Given the description of an element on the screen output the (x, y) to click on. 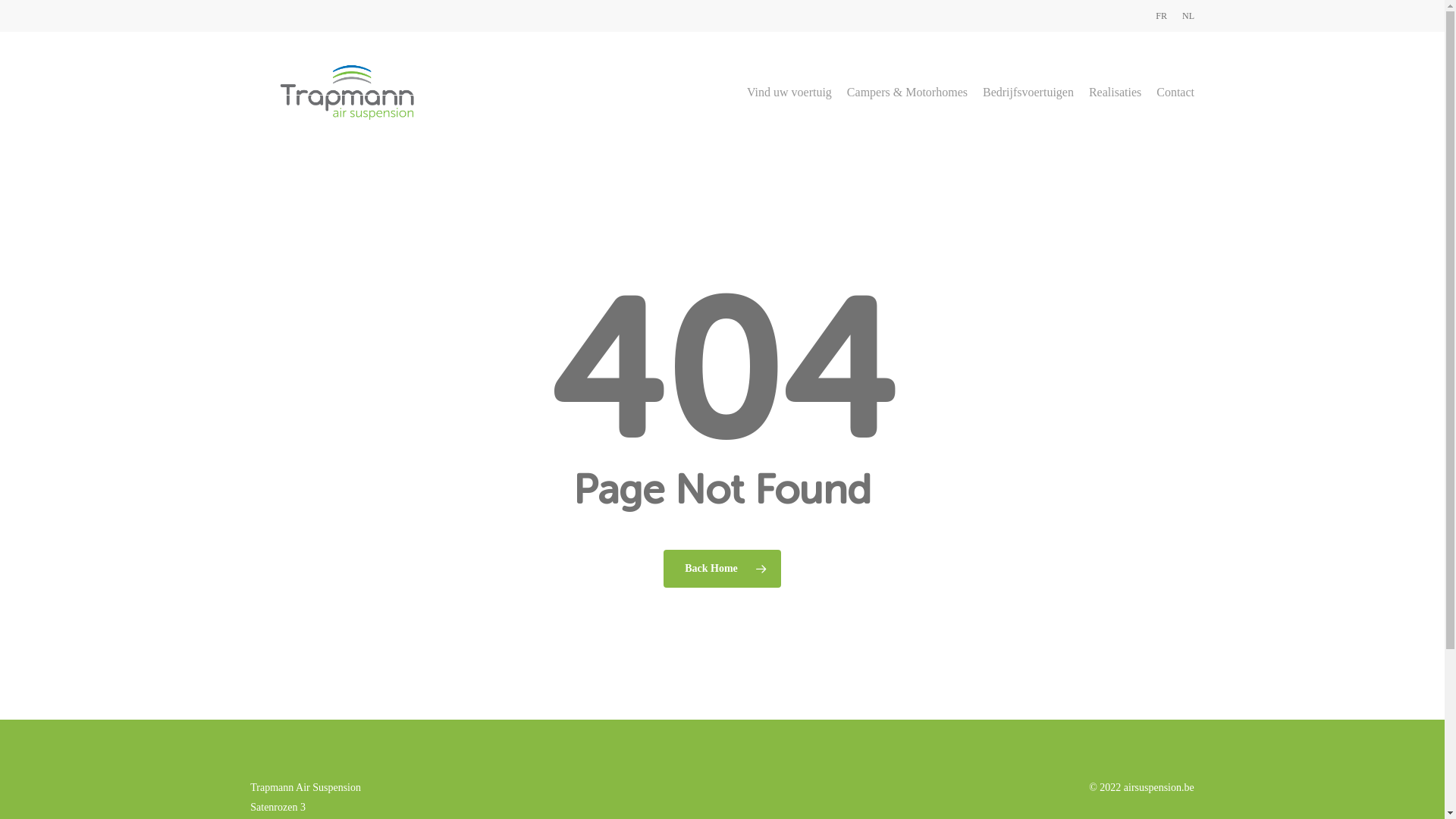
Realisaties Element type: text (1114, 92)
NL Element type: text (1188, 15)
Trapmann Air Suspension Element type: text (305, 787)
FR Element type: text (1161, 15)
Bedrijfsvoertuigen Element type: text (1027, 92)
Back Home Element type: text (722, 567)
Contact Element type: text (1175, 92)
Campers & Motorhomes Element type: text (907, 92)
Vind uw voertuig Element type: text (788, 92)
